Given the description of an element on the screen output the (x, y) to click on. 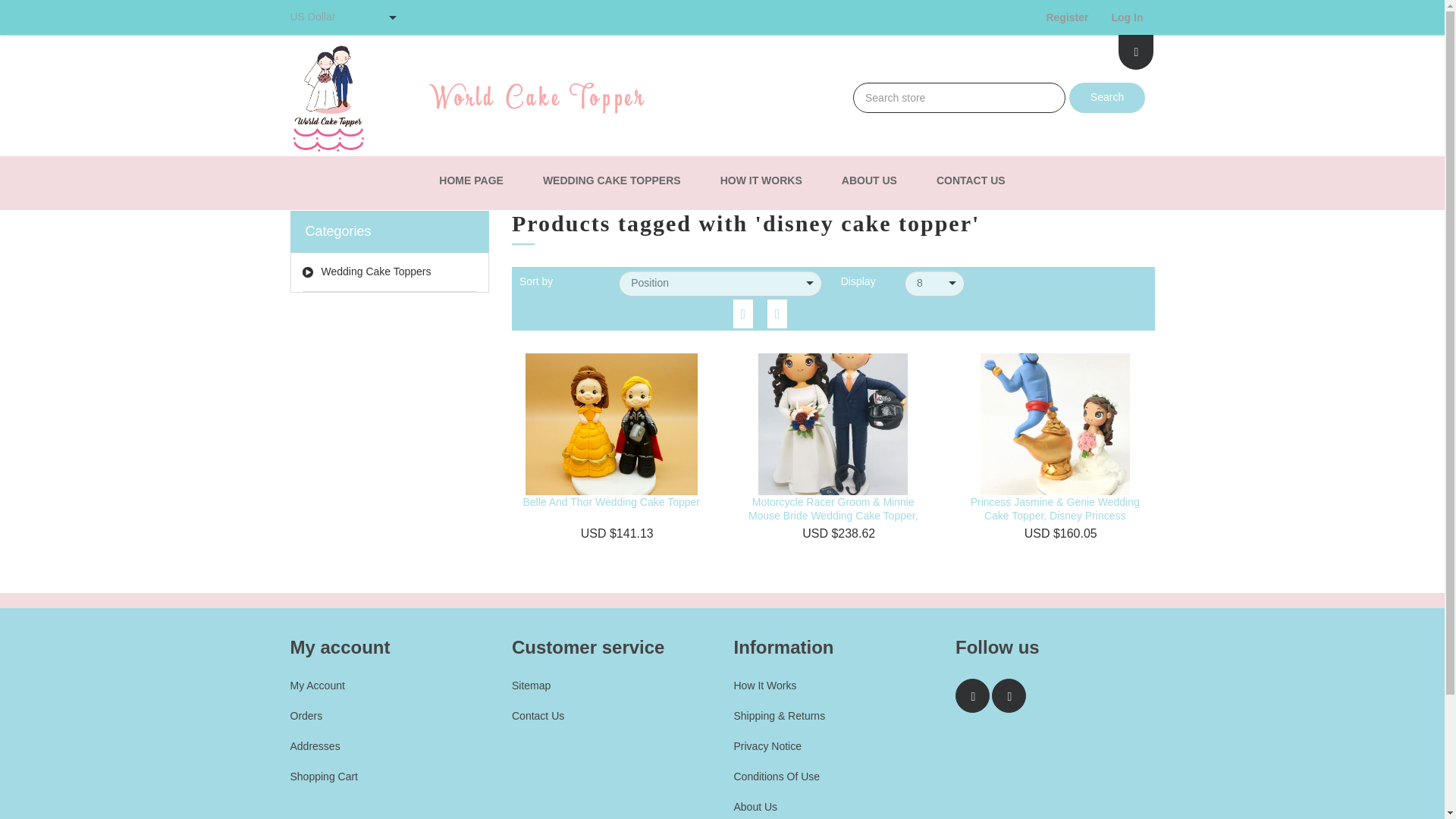
Grid (743, 313)
Search (1106, 97)
HOME PAGE (470, 180)
Belle And Thor Wedding Cake Topper (611, 501)
Wedding Cake Toppers (389, 272)
ABOUT US (869, 180)
Log In (1126, 17)
Register (1066, 17)
List (777, 313)
CONTACT US (971, 180)
